Given the description of an element on the screen output the (x, y) to click on. 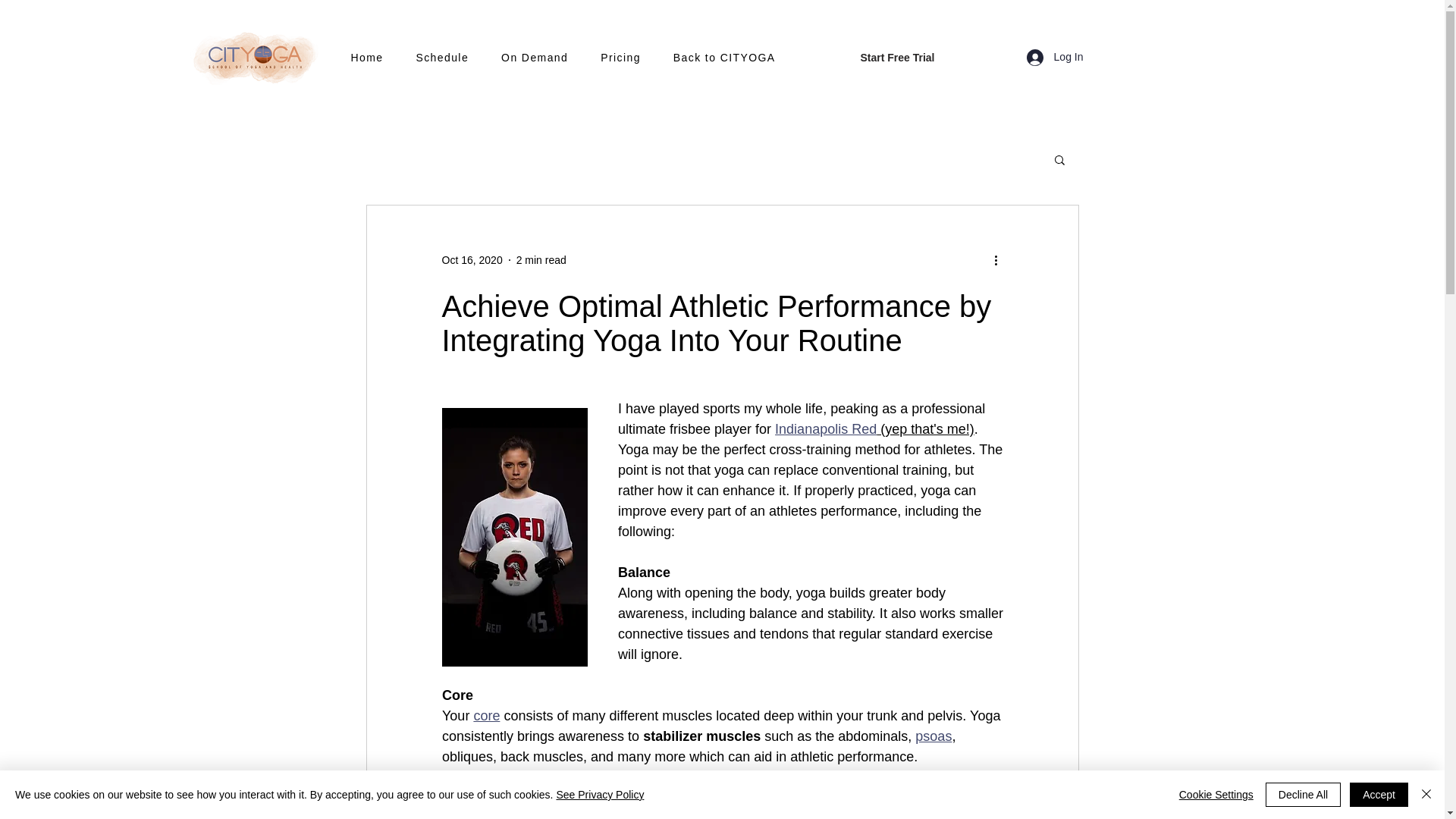
2 min read (541, 259)
psoas (933, 735)
core (486, 715)
Oct 16, 2020 (471, 259)
Schedule (450, 58)
Pricing (629, 58)
Home (375, 58)
Start Free Trial (896, 57)
Indianapolis Red (825, 428)
Log In (1055, 56)
Back to CITYOGA (733, 58)
On Demand (543, 58)
